Given the description of an element on the screen output the (x, y) to click on. 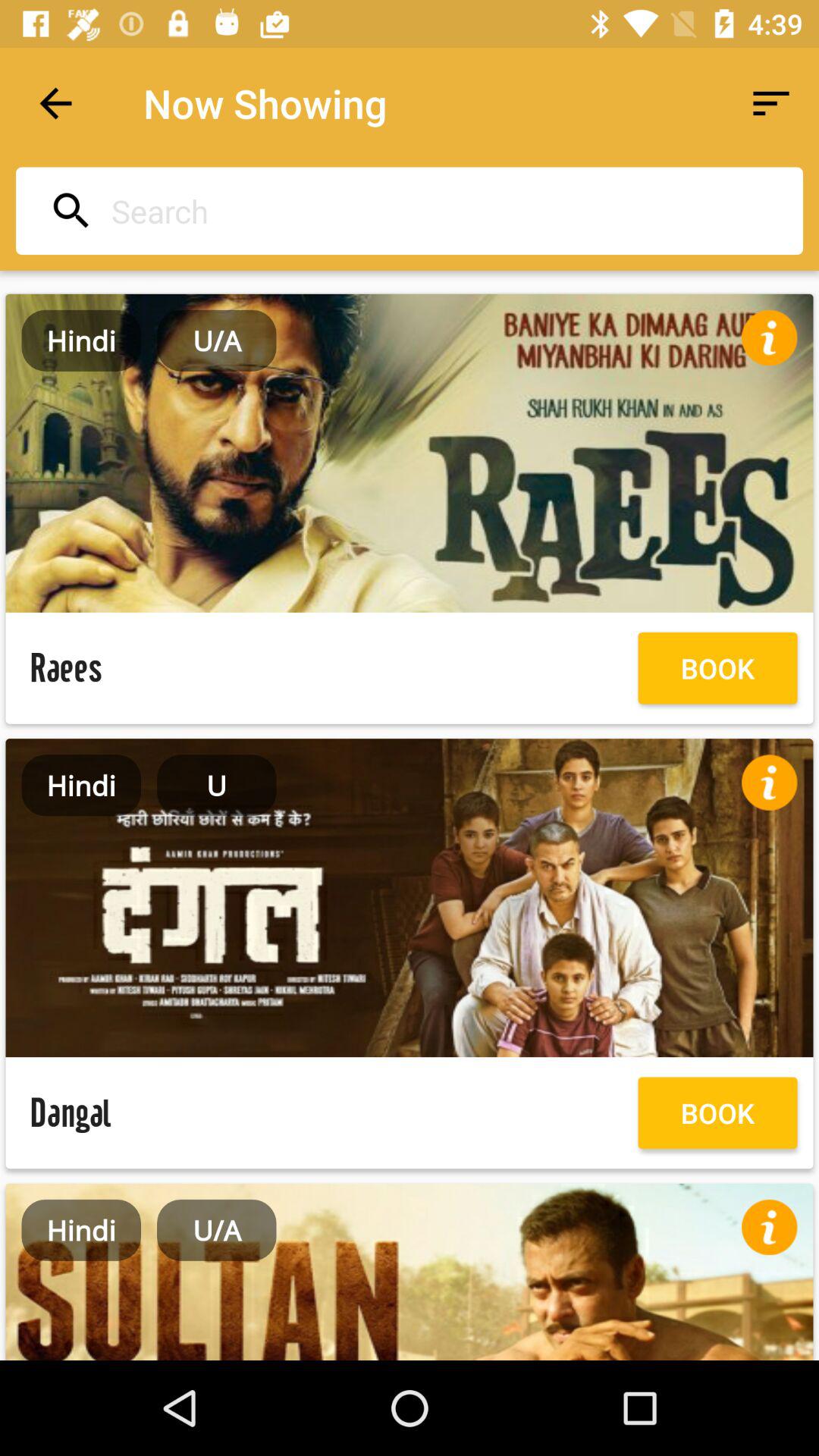
view info (769, 337)
